Given the description of an element on the screen output the (x, y) to click on. 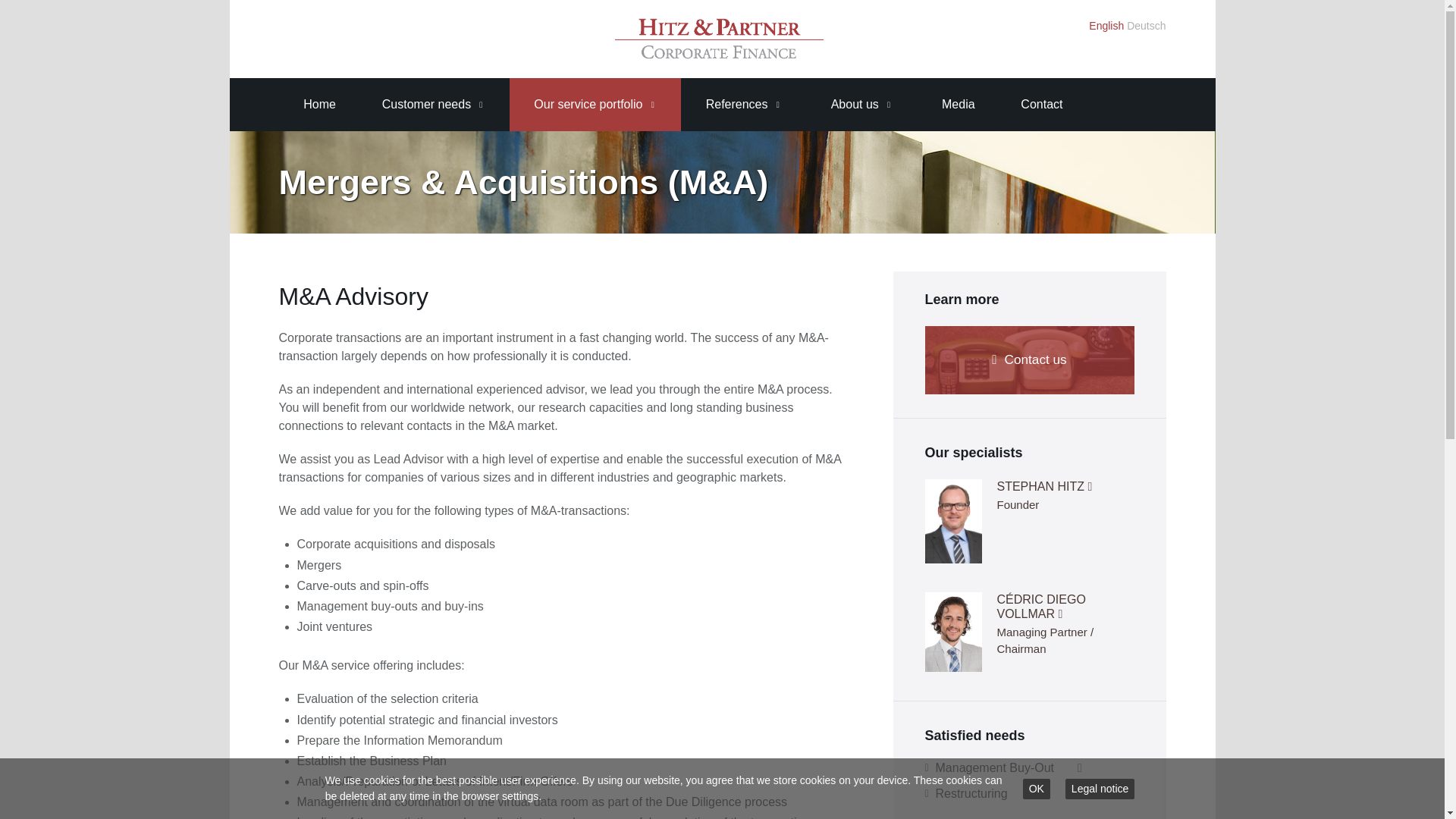
Home (317, 104)
Deutsch (1146, 25)
Customer needs (424, 104)
Our service portfolio (585, 104)
Our service portfolio (585, 104)
References (735, 104)
References (735, 104)
Customer needs (424, 104)
Home (317, 104)
